Given the description of an element on the screen output the (x, y) to click on. 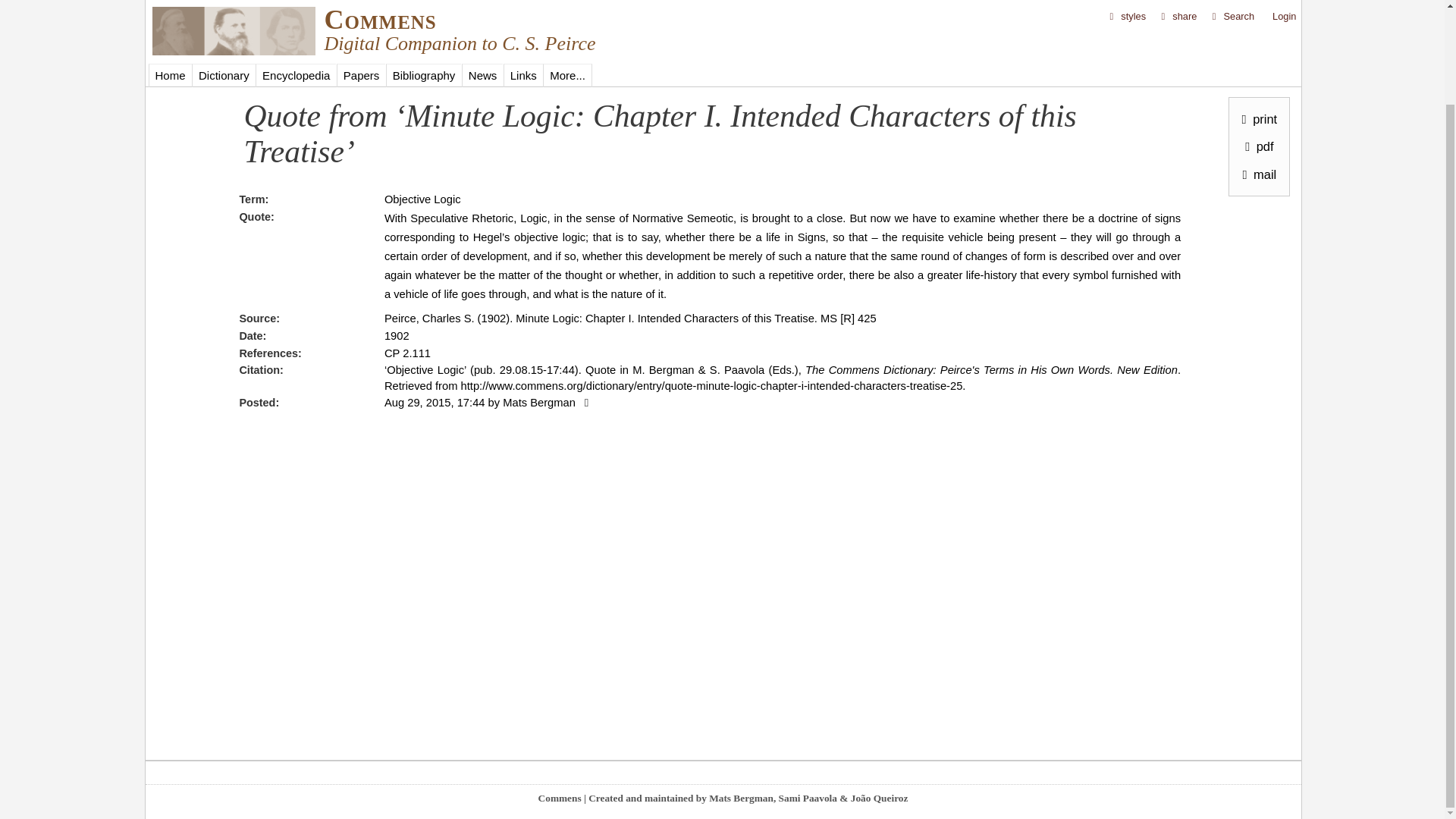
Send this Dictionary Entry by email (1256, 65)
Open printer-friendly view of this Dictionary Entry (1255, 10)
Objective Logic (422, 199)
print (1255, 10)
Download this Dictionary Entry as a pdf file (1256, 38)
Send a message to the person who posted this item (584, 402)
pdf (1256, 38)
mail (1256, 65)
